Given the description of an element on the screen output the (x, y) to click on. 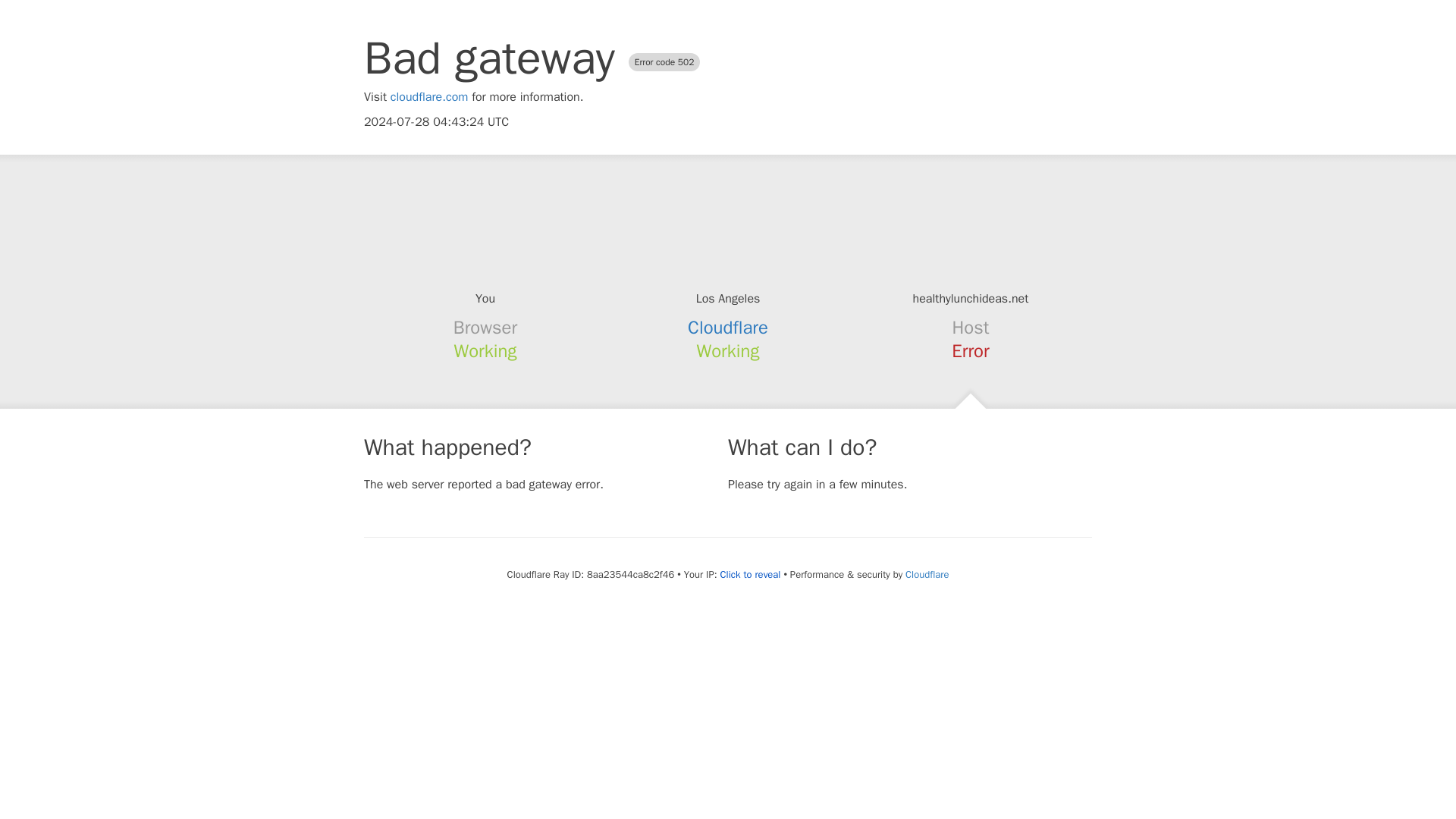
Click to reveal (750, 574)
Cloudflare (727, 327)
Cloudflare (927, 574)
cloudflare.com (429, 96)
